Given the description of an element on the screen output the (x, y) to click on. 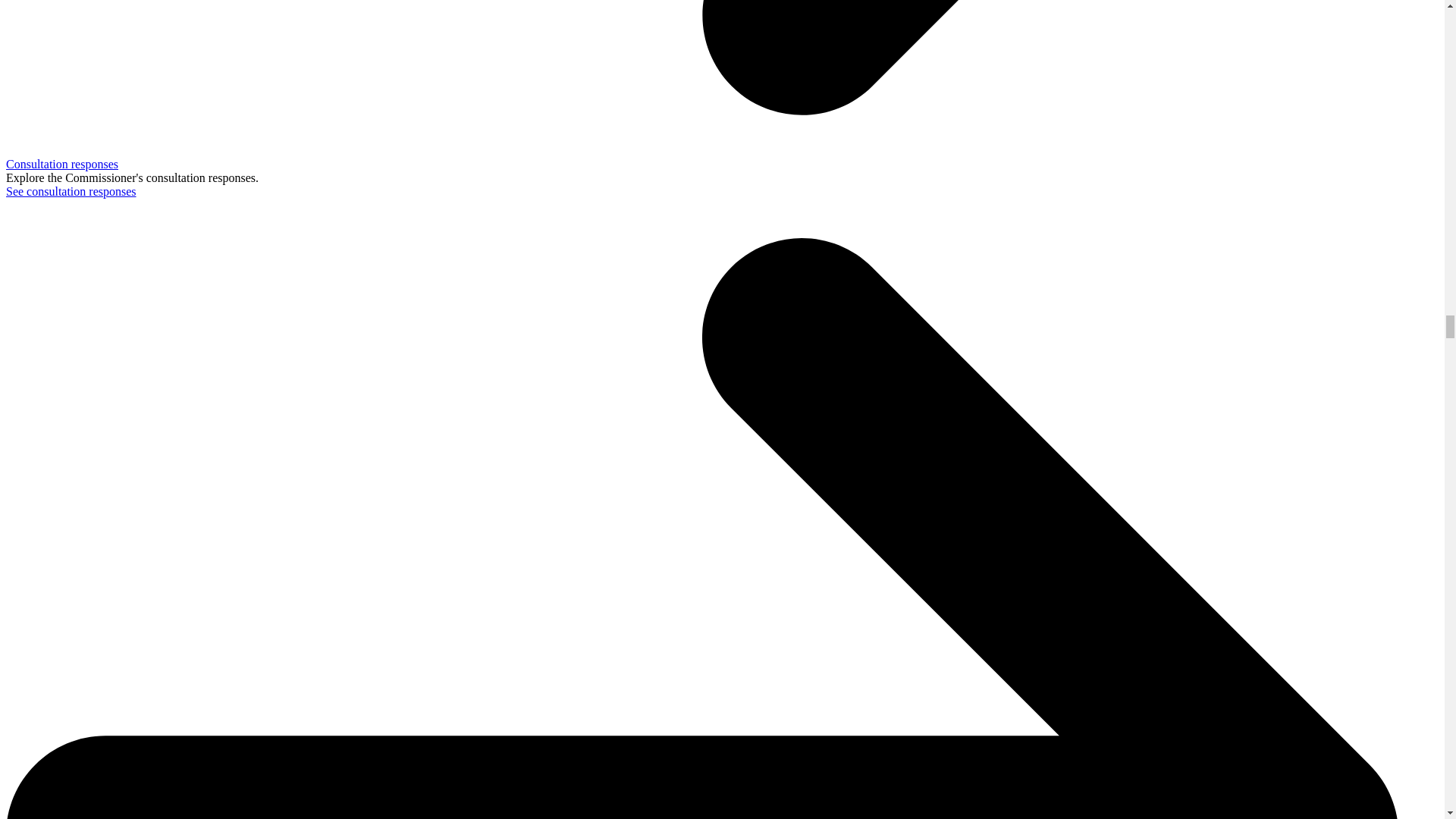
Consultation responses (61, 164)
